Given the description of an element on the screen output the (x, y) to click on. 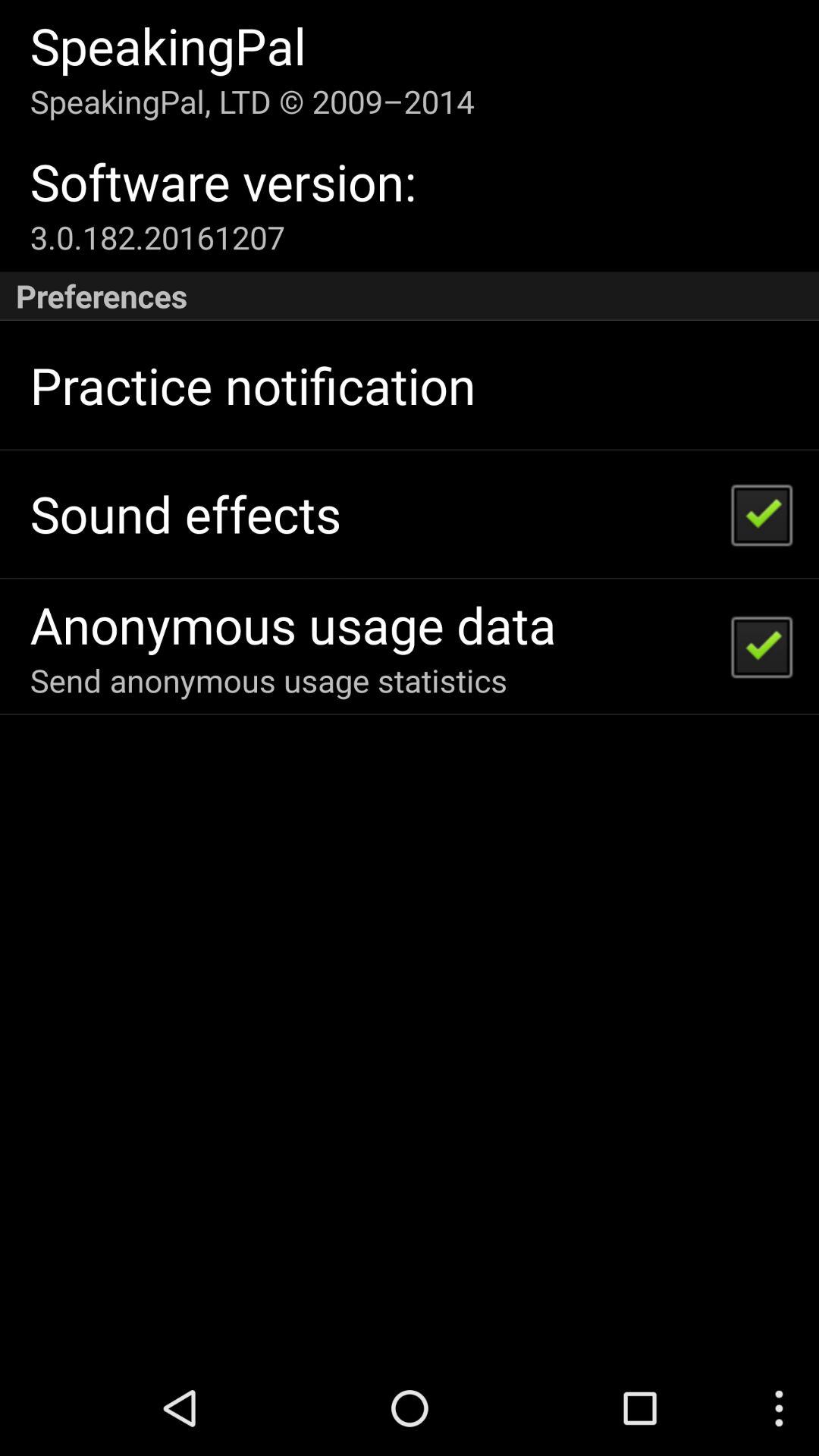
swipe until sound effects app (185, 513)
